Given the description of an element on the screen output the (x, y) to click on. 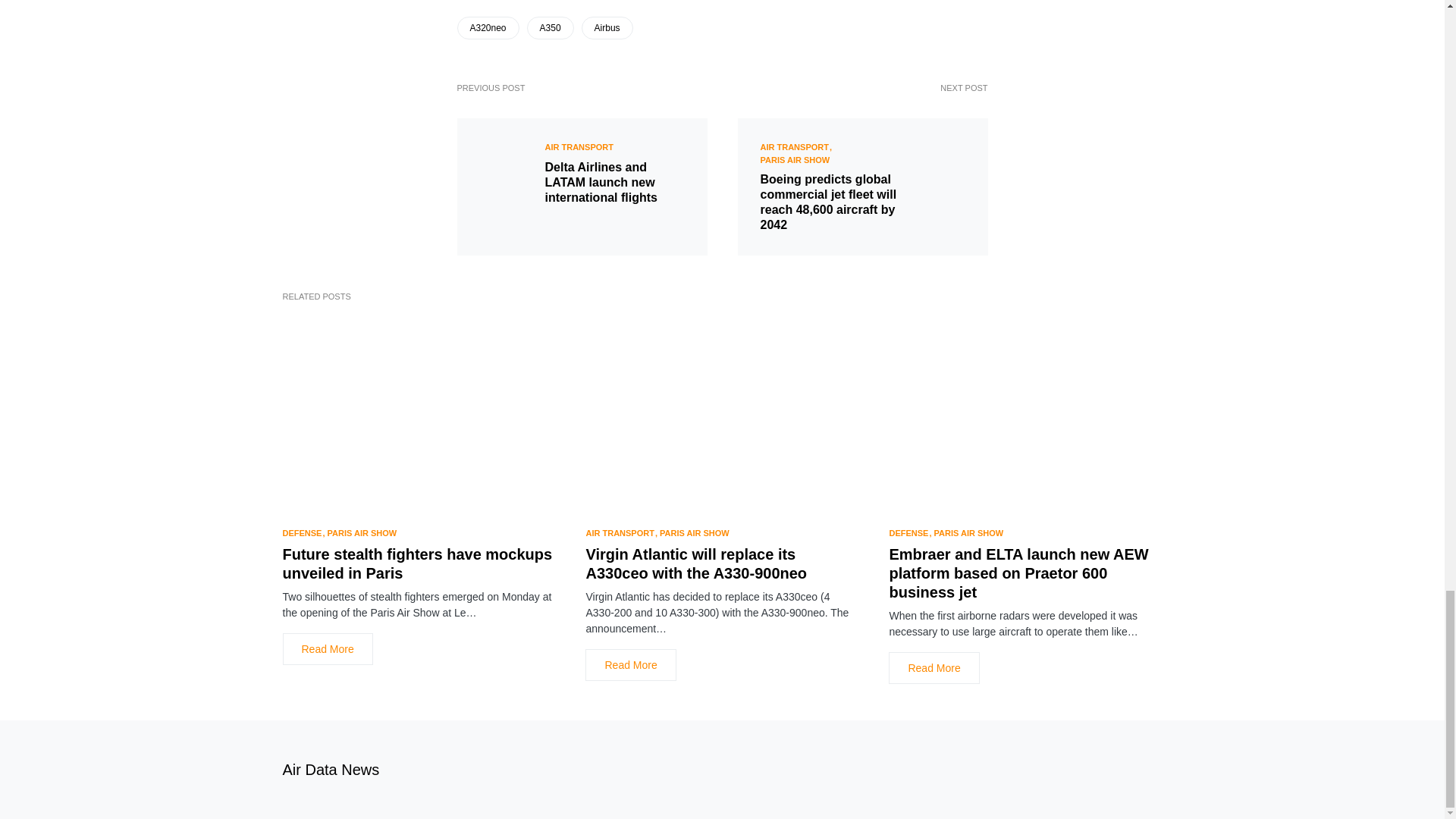
AIR TRANSPORT (578, 146)
A320neo (487, 27)
Airbus (606, 27)
Delta Airlines and LATAM launch new international flights (614, 182)
A350 (550, 27)
